Given the description of an element on the screen output the (x, y) to click on. 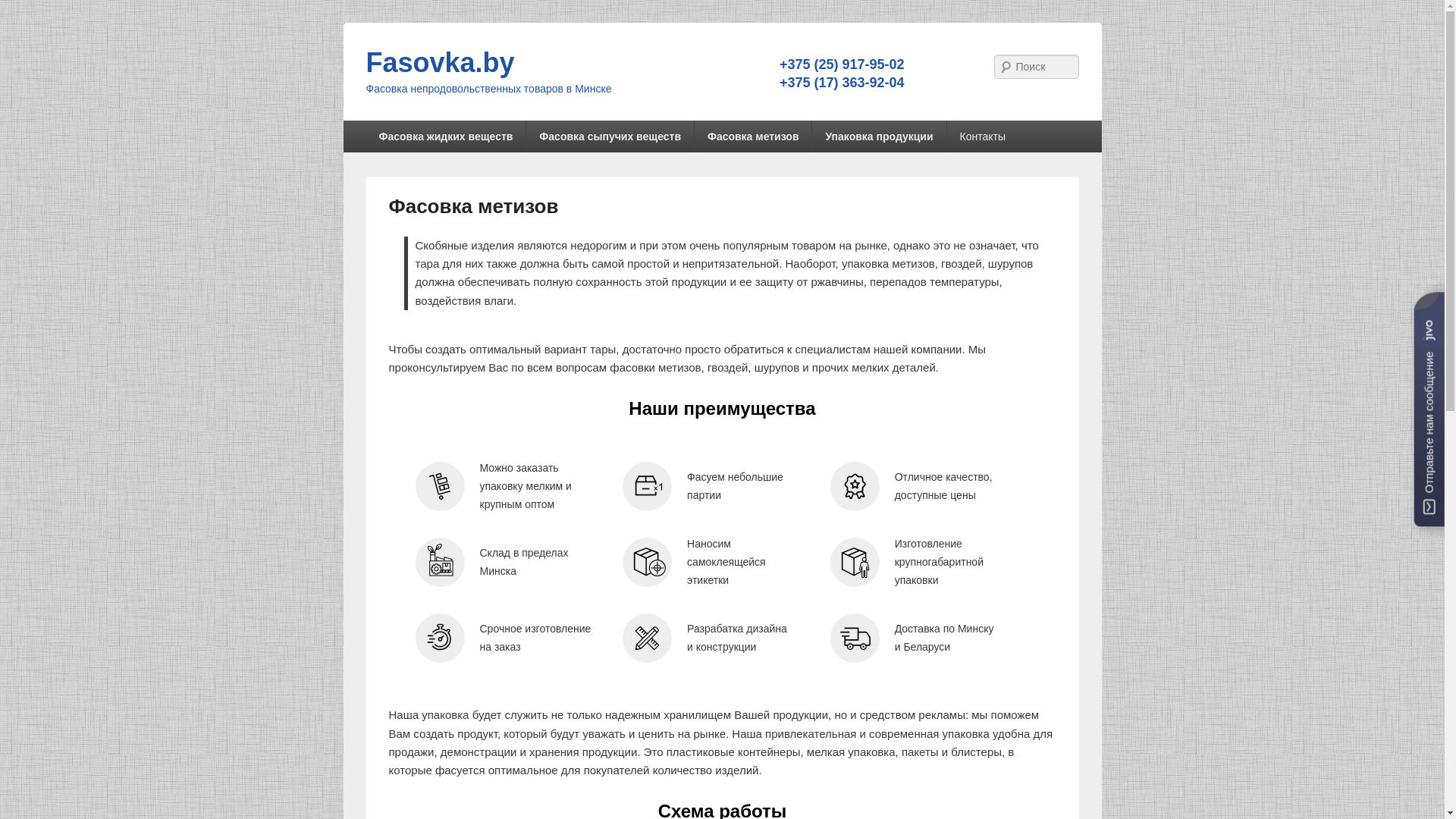
Fasovka.by Element type: text (439, 62)
